Given the description of an element on the screen output the (x, y) to click on. 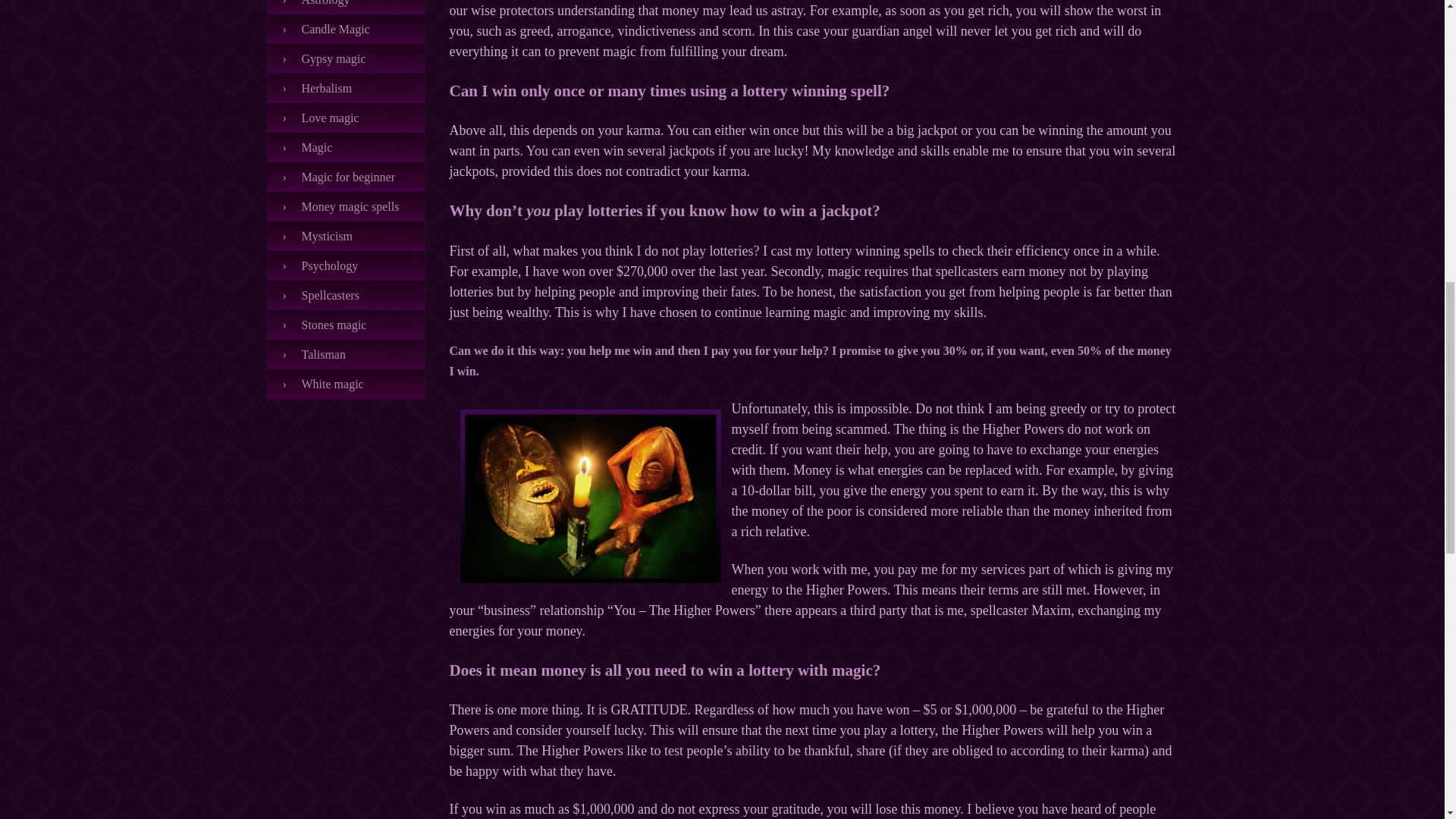
Mysticism (345, 236)
Lottery winning spells ritual (590, 496)
Psychology (345, 266)
Astrology (345, 7)
Money magic spells (345, 206)
Love magic (345, 118)
Herbalism (345, 89)
Gypsy magic (345, 59)
Candle Magic (345, 30)
Magic for beginner (345, 177)
